Given the description of an element on the screen output the (x, y) to click on. 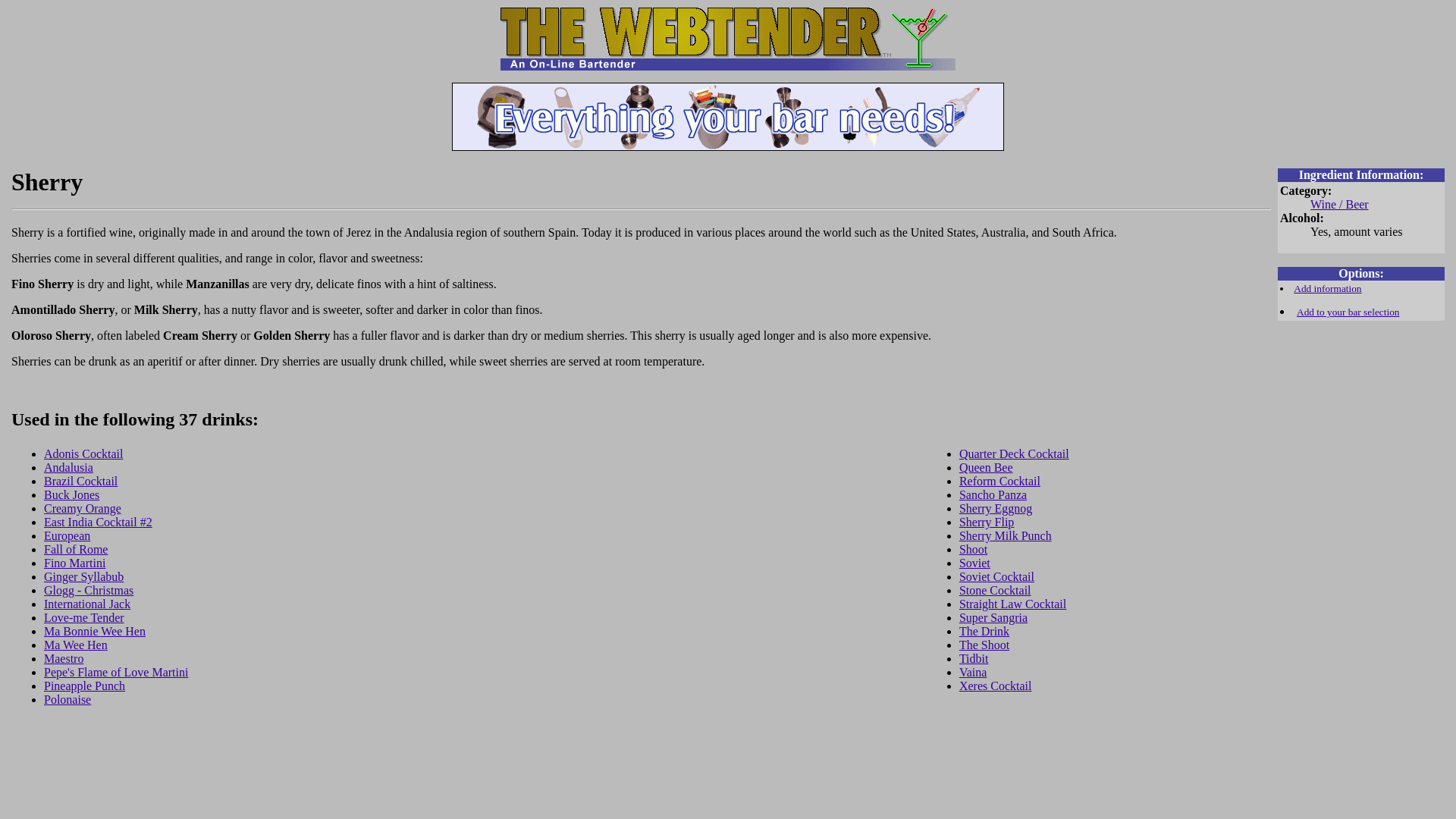
Love-me Tender (83, 617)
Buck Jones (71, 494)
Brazil Cocktail (80, 481)
Vaina (973, 671)
Ma Wee Hen (75, 644)
Shoot (973, 549)
Ma Bonnie Wee Hen (94, 631)
Pepe's Flame of Love Martini (115, 671)
Xeres Cocktail (995, 685)
Polonaise (66, 698)
